Given the description of an element on the screen output the (x, y) to click on. 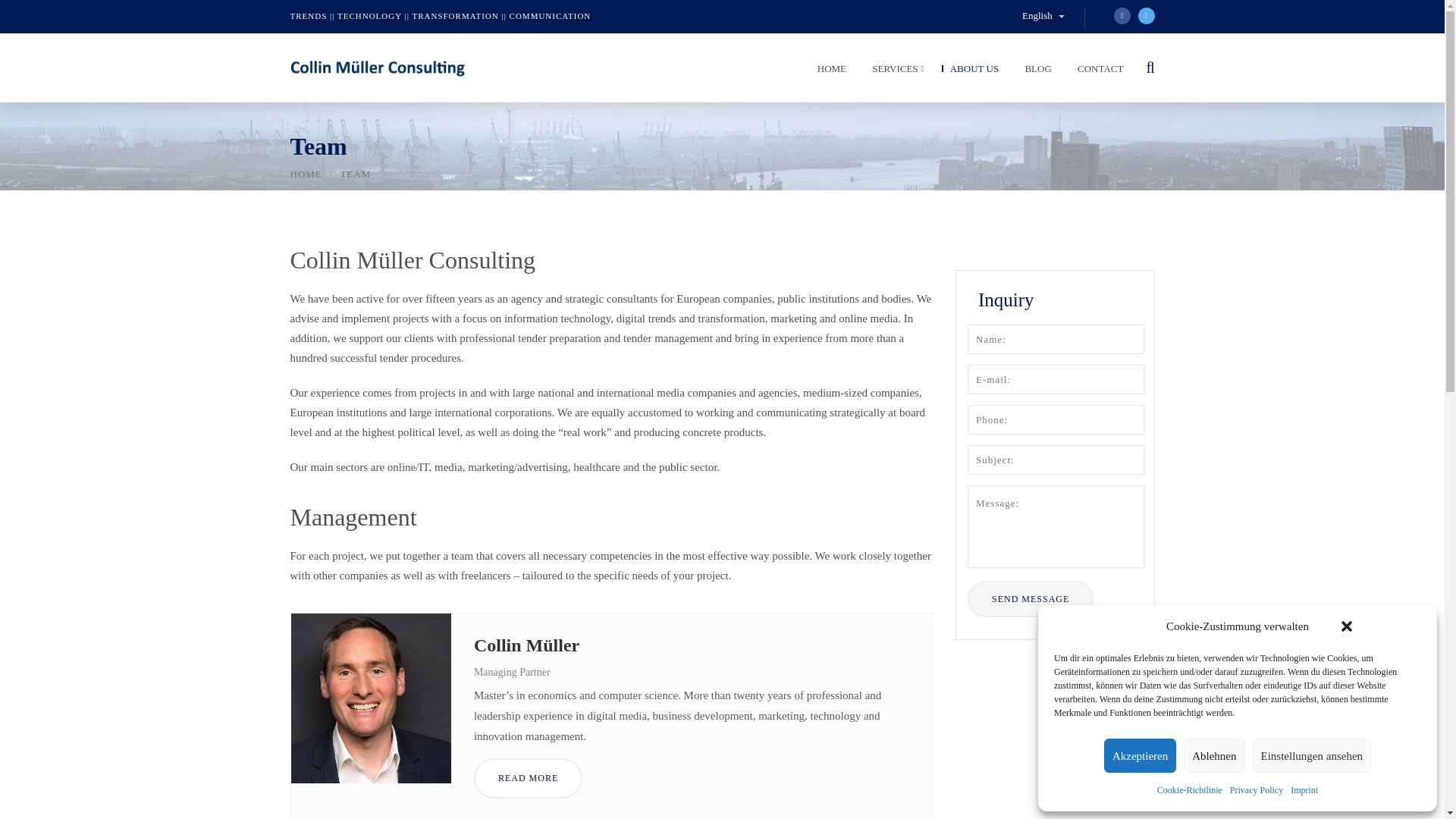
Akzeptieren (1139, 755)
HOME (827, 71)
SERVICES (893, 71)
Imprint (1303, 790)
READ MORE (528, 778)
ABOUT US (970, 71)
BLOG (1033, 71)
HOME (305, 173)
Ablehnen (1213, 755)
Cookie-Richtlinie (1190, 790)
